Given the description of an element on the screen output the (x, y) to click on. 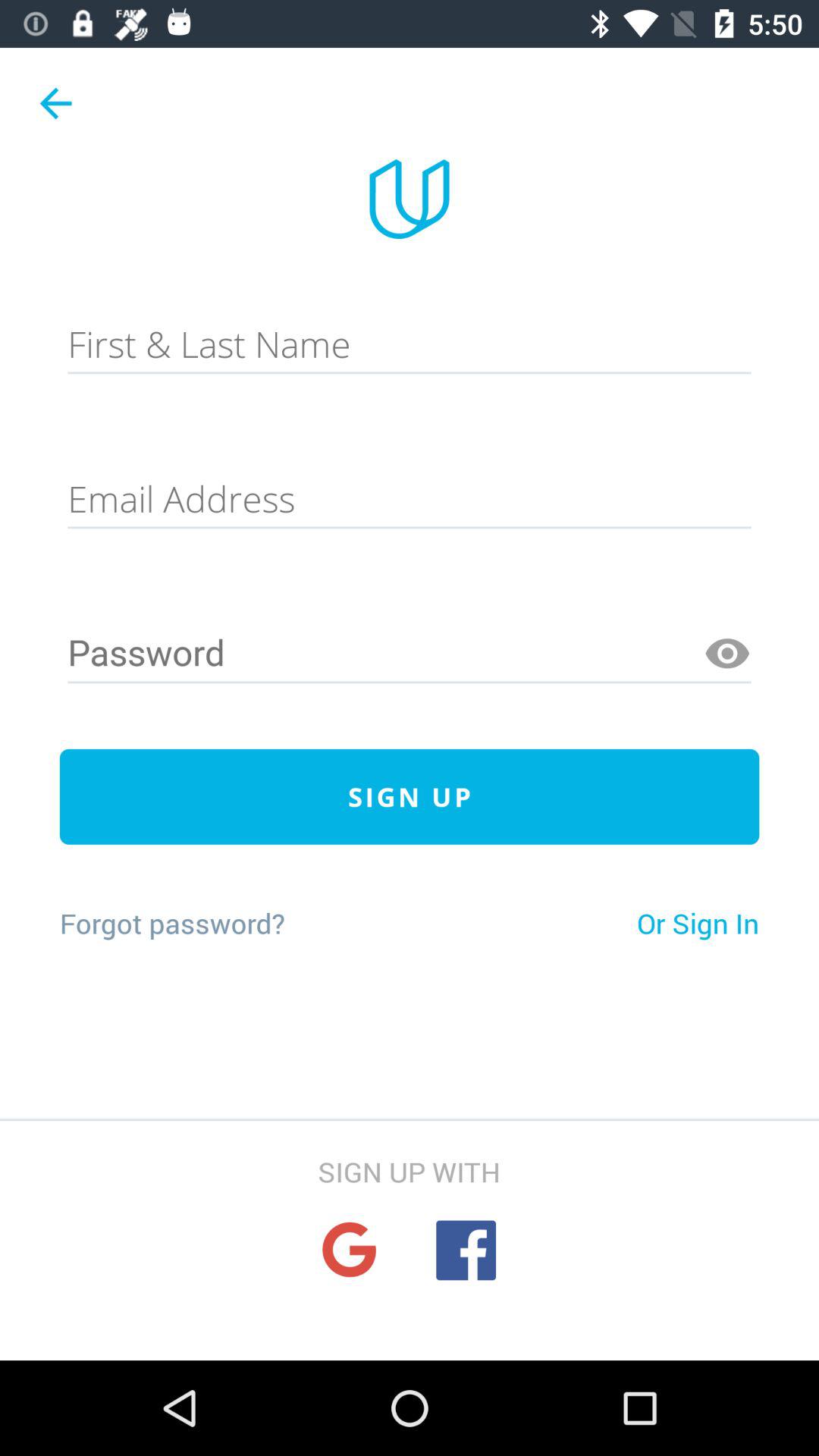
open facebook (465, 1250)
